Given the description of an element on the screen output the (x, y) to click on. 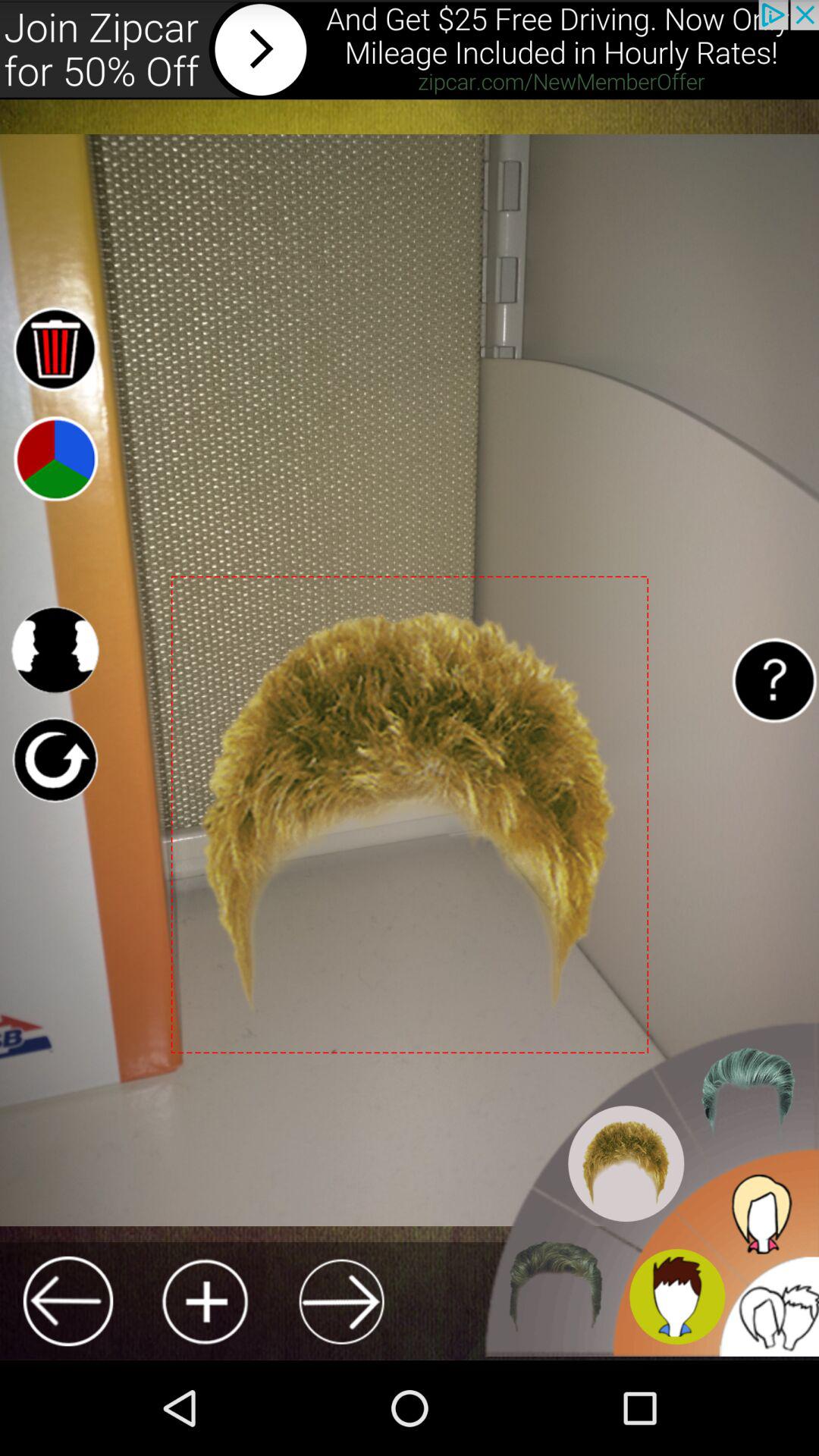
advertisement for zipcar (409, 49)
